Given the description of an element on the screen output the (x, y) to click on. 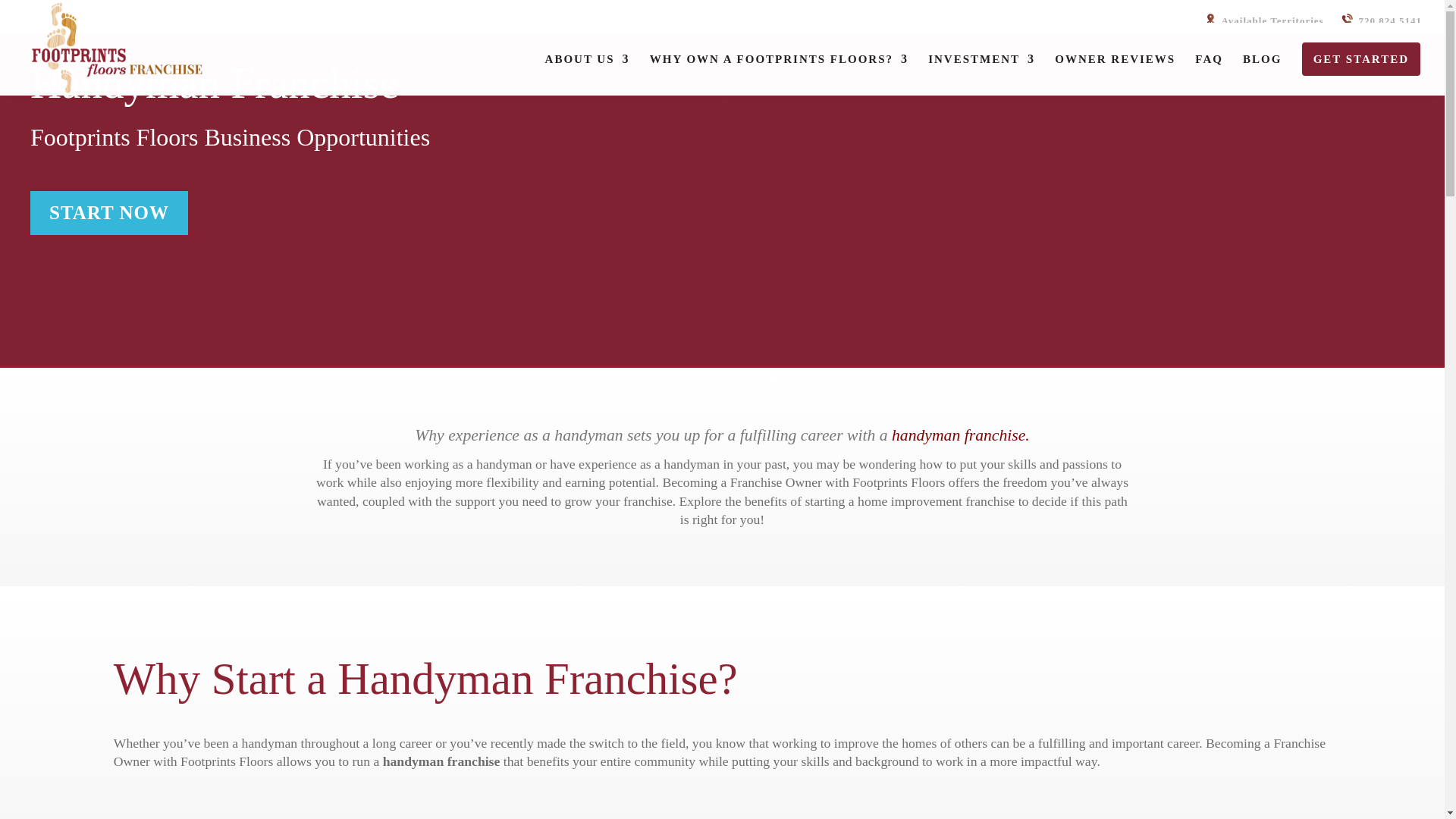
FAQ (1209, 69)
WHY OWN A FOOTPRINTS FLOORS? (778, 69)
Available Territories (1262, 20)
720.824.5141 (1380, 20)
OWNER REVIEWS (1114, 69)
GET STARTED (1361, 68)
Handyman Franchise with Footprints Floors (960, 434)
START NOW (108, 212)
handyman franchise. (960, 434)
ABOUT US (587, 69)
BLOG (1262, 69)
INVESTMENT (981, 69)
